Given the description of an element on the screen output the (x, y) to click on. 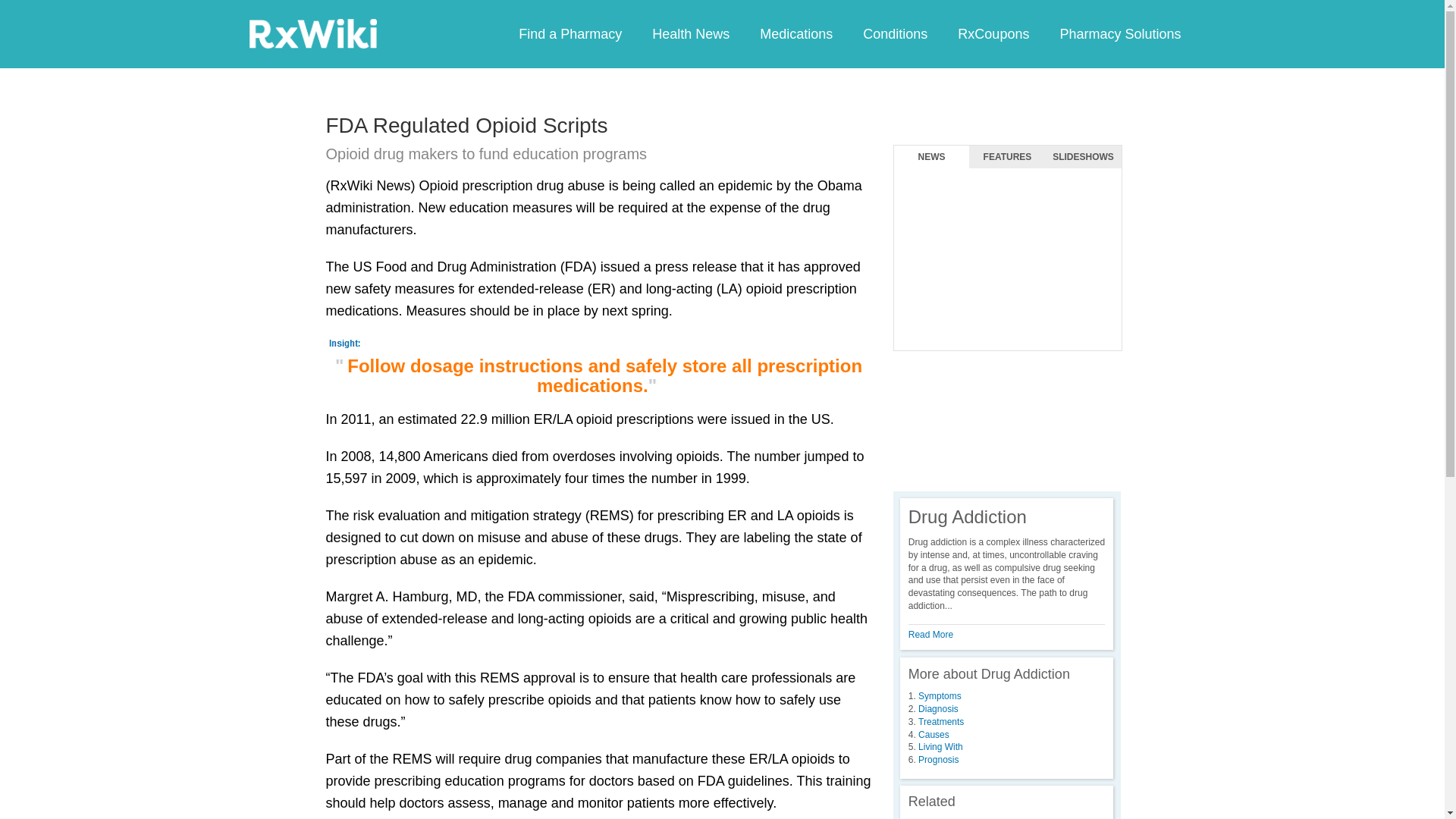
RxWiki (312, 32)
Health News (690, 33)
RxCoupons (992, 33)
NEWS (931, 156)
Symptoms (939, 696)
Medications (795, 33)
FEATURES (1007, 156)
SLIDESHOWS (1083, 156)
Pharmacy Solutions (1119, 33)
Find a Pharmacy (570, 33)
Conditions (894, 33)
Read More (930, 634)
